Given the description of an element on the screen output the (x, y) to click on. 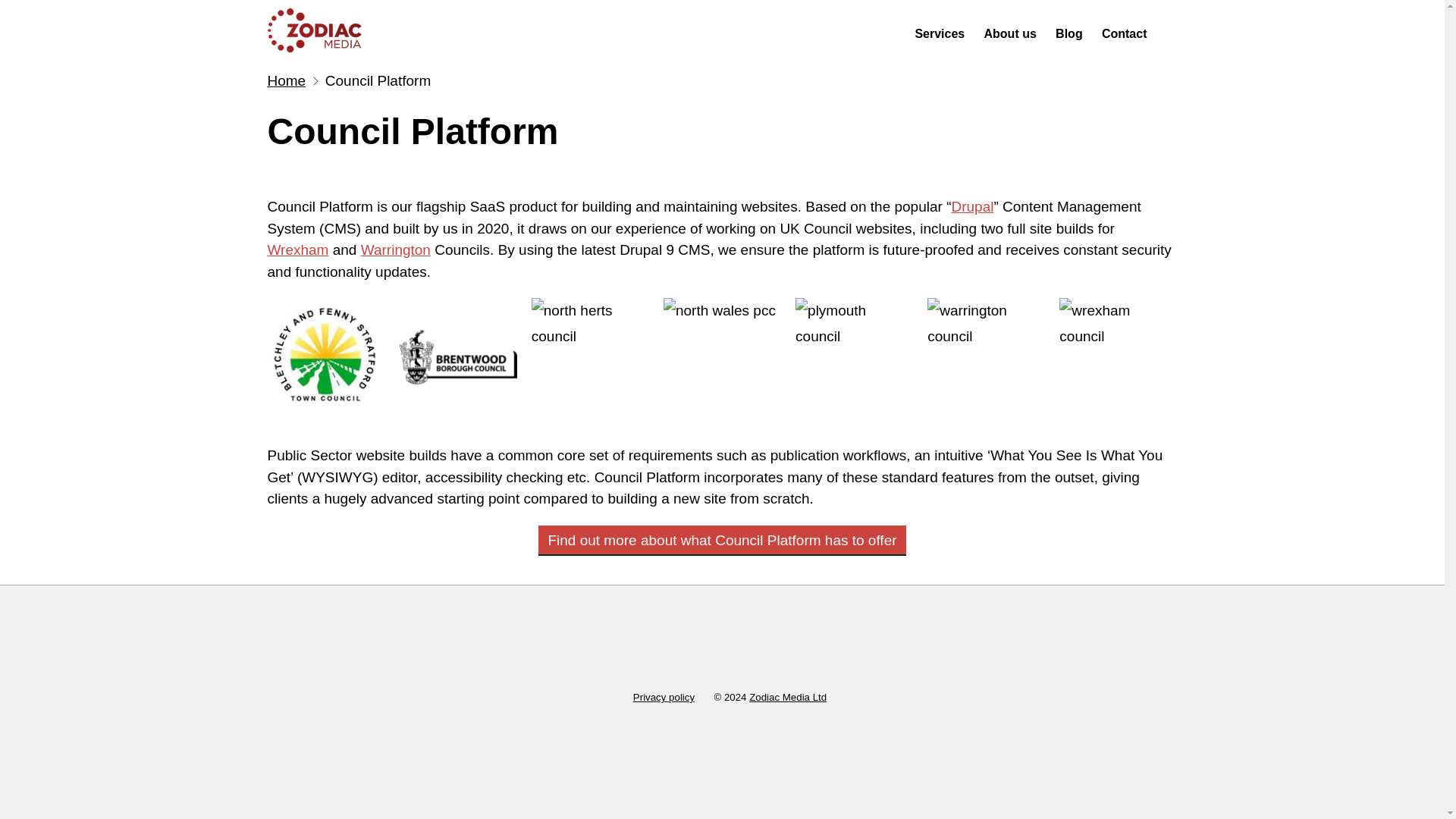
Blog (1069, 33)
Services (939, 33)
Privacy policy (663, 696)
Contact (1124, 33)
Warrington (395, 249)
Wrexham (297, 249)
Zodiac Media Ltd (788, 696)
Home (285, 80)
Find out more about what Council Platform has to offer (721, 539)
Skip to main content (11, 7)
Drupal (971, 206)
Home (319, 31)
About us (1009, 33)
